Given the description of an element on the screen output the (x, y) to click on. 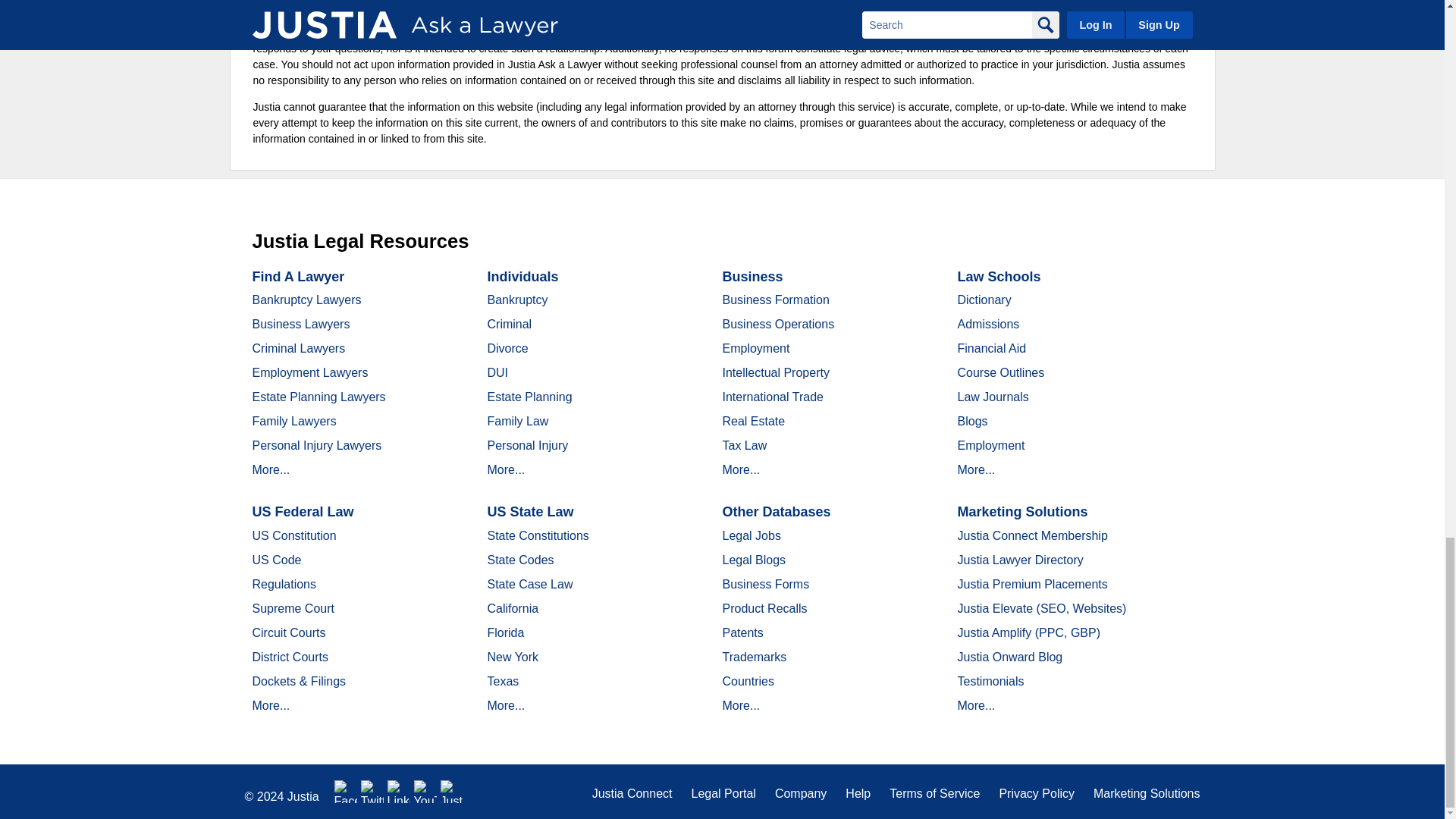
Justia Lawyer Directory (452, 791)
Facebook (345, 791)
Twitter (372, 791)
LinkedIn (398, 791)
YouTube (424, 791)
